Given the description of an element on the screen output the (x, y) to click on. 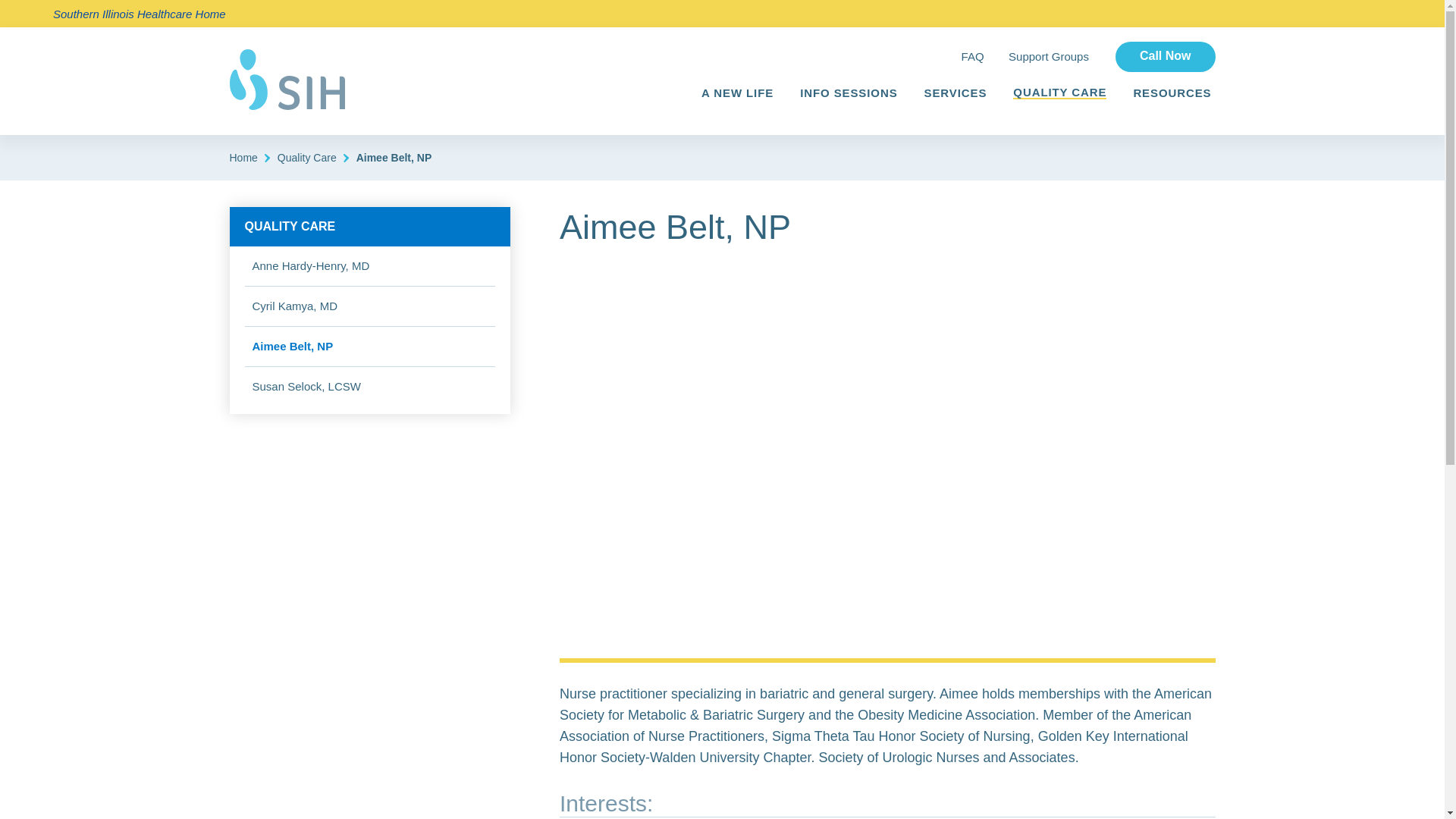
SIH New Life (285, 79)
Home (242, 157)
Southern Illinois Healthcare Home (138, 12)
Anne Hardy-Henry, MD (310, 265)
SIH New Life (285, 79)
Aimee Belt, NP (292, 346)
QUALITY CARE (369, 226)
Support Groups (1049, 56)
Cyril Kamya, MD (294, 306)
